Given the description of an element on the screen output the (x, y) to click on. 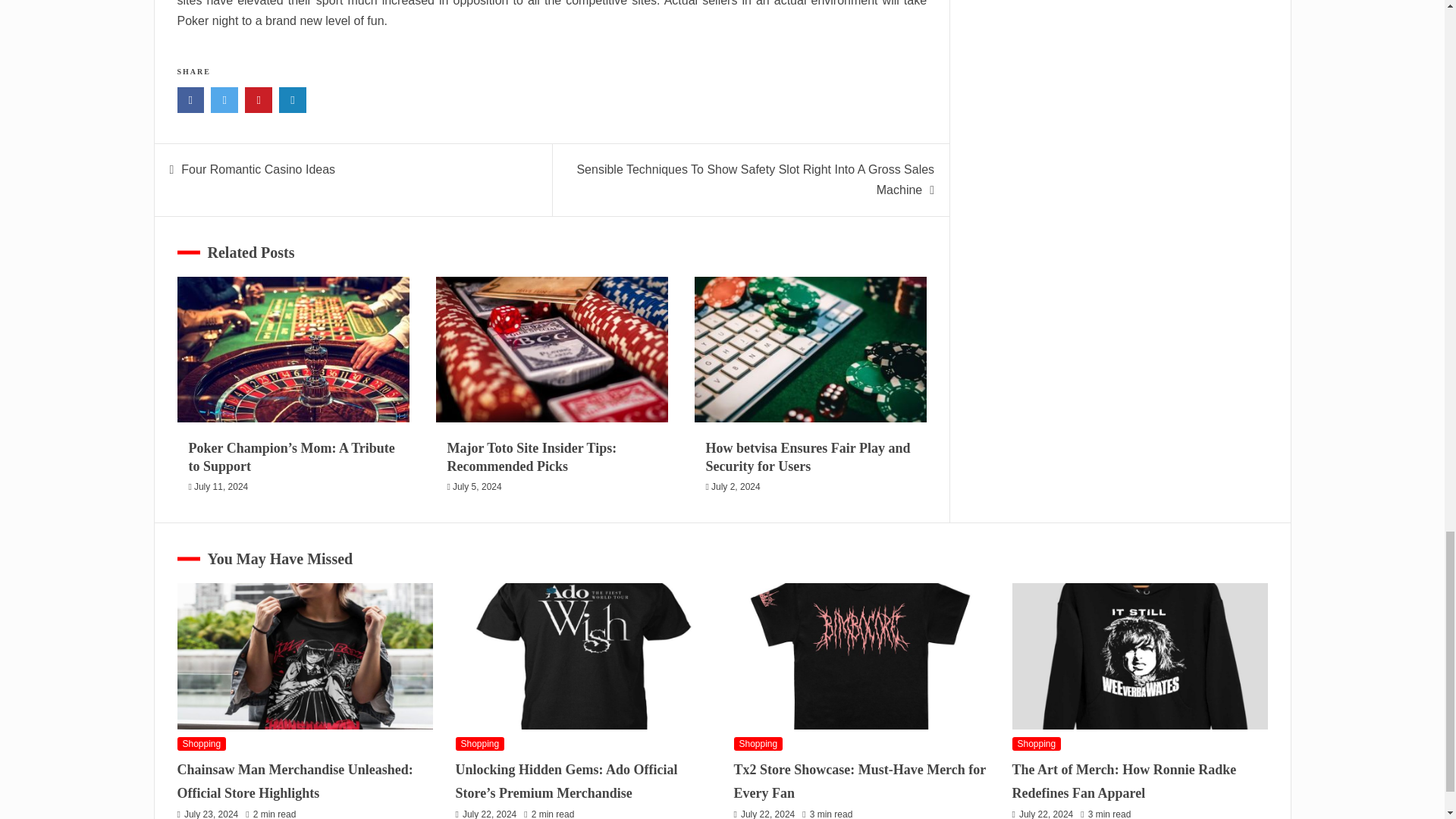
July 5, 2024 (477, 486)
July 2, 2024 (735, 486)
Major Toto Site Insider Tips: Recommended Picks (531, 456)
July 11, 2024 (220, 486)
How betvisa Ensures Fair Play and Security for Users (808, 456)
Four Romantic Casino Ideas (257, 169)
